Given the description of an element on the screen output the (x, y) to click on. 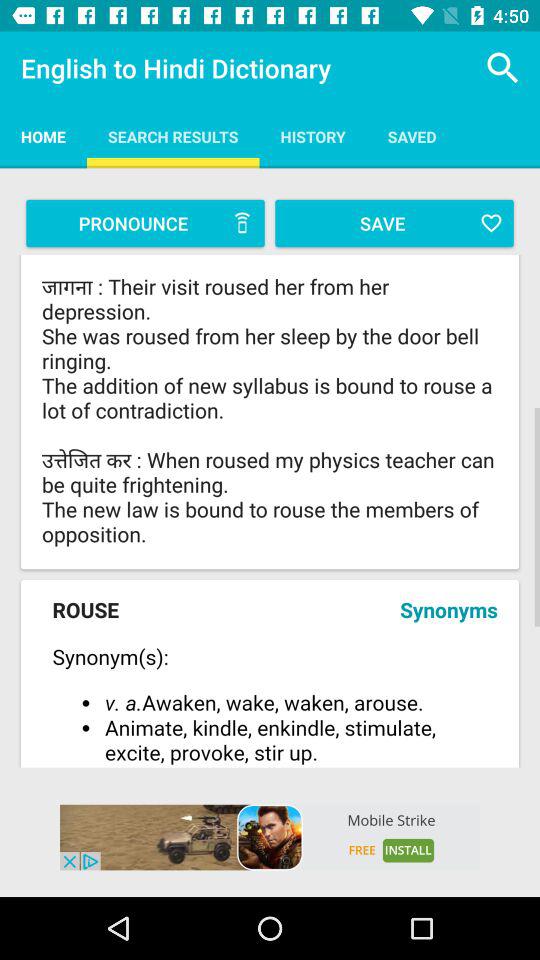
opens advertisement (270, 837)
